Given the description of an element on the screen output the (x, y) to click on. 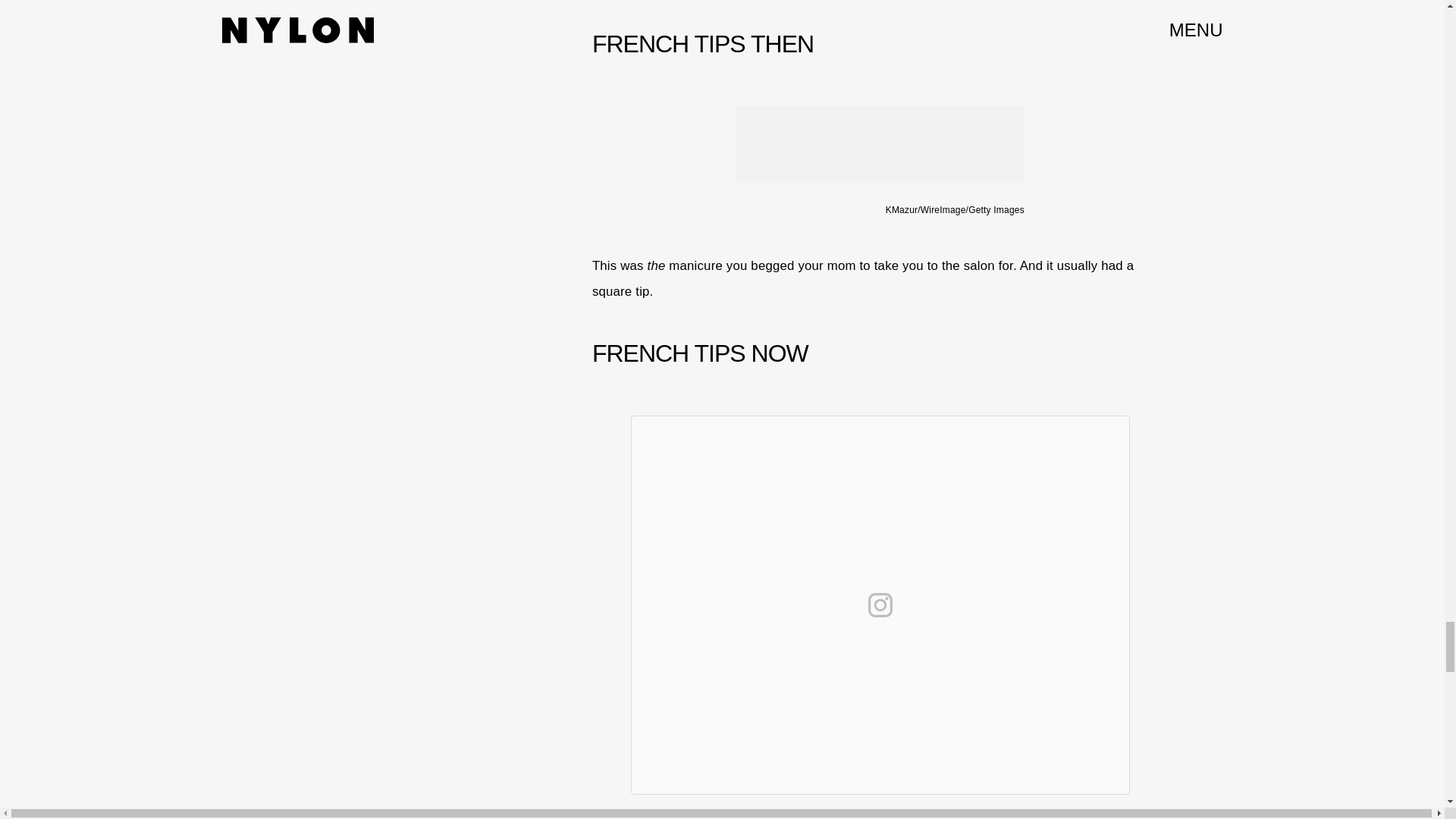
View on Instagram (879, 605)
